Given the description of an element on the screen output the (x, y) to click on. 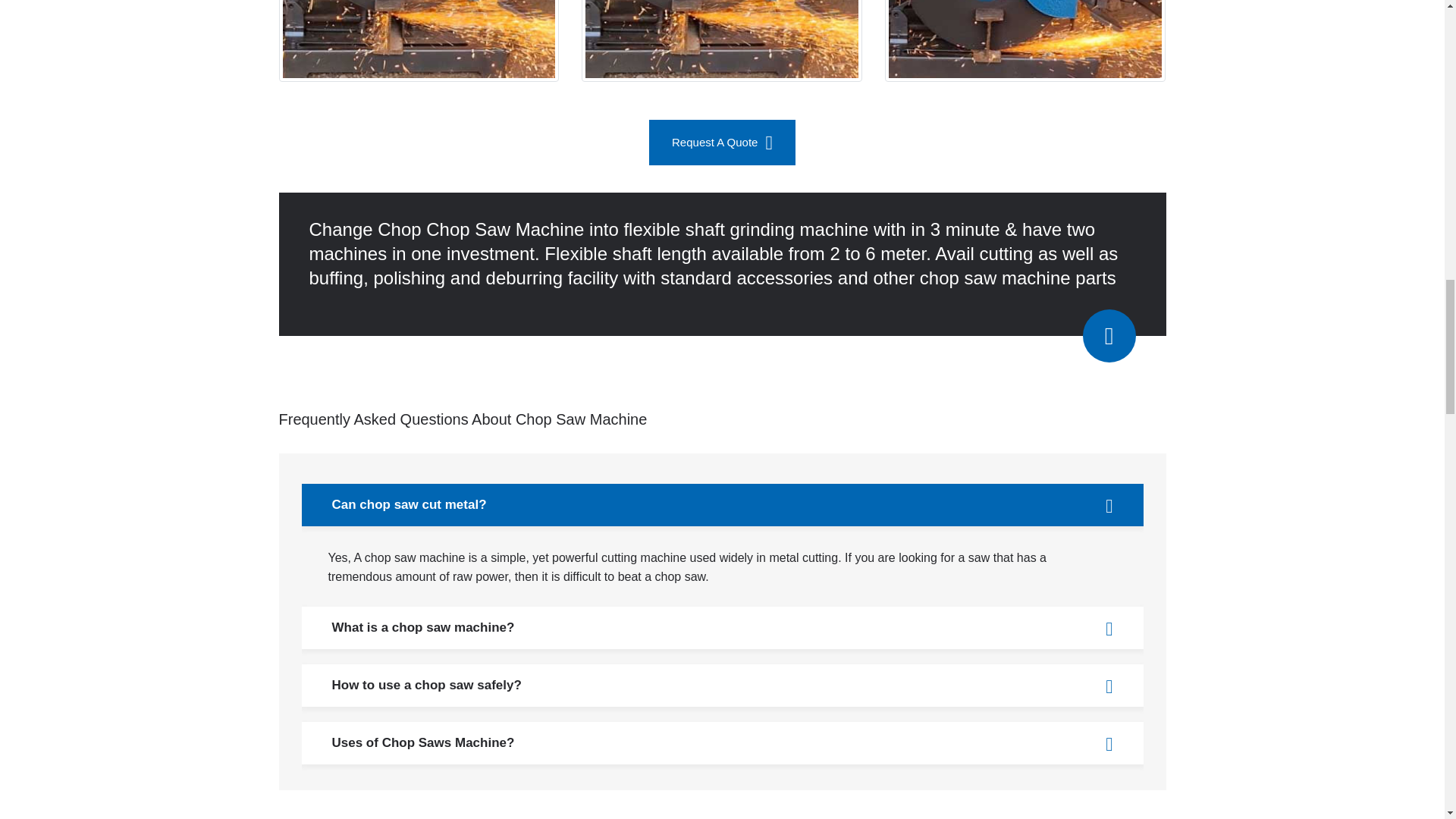
Request A Quote (721, 142)
